Given the description of an element on the screen output the (x, y) to click on. 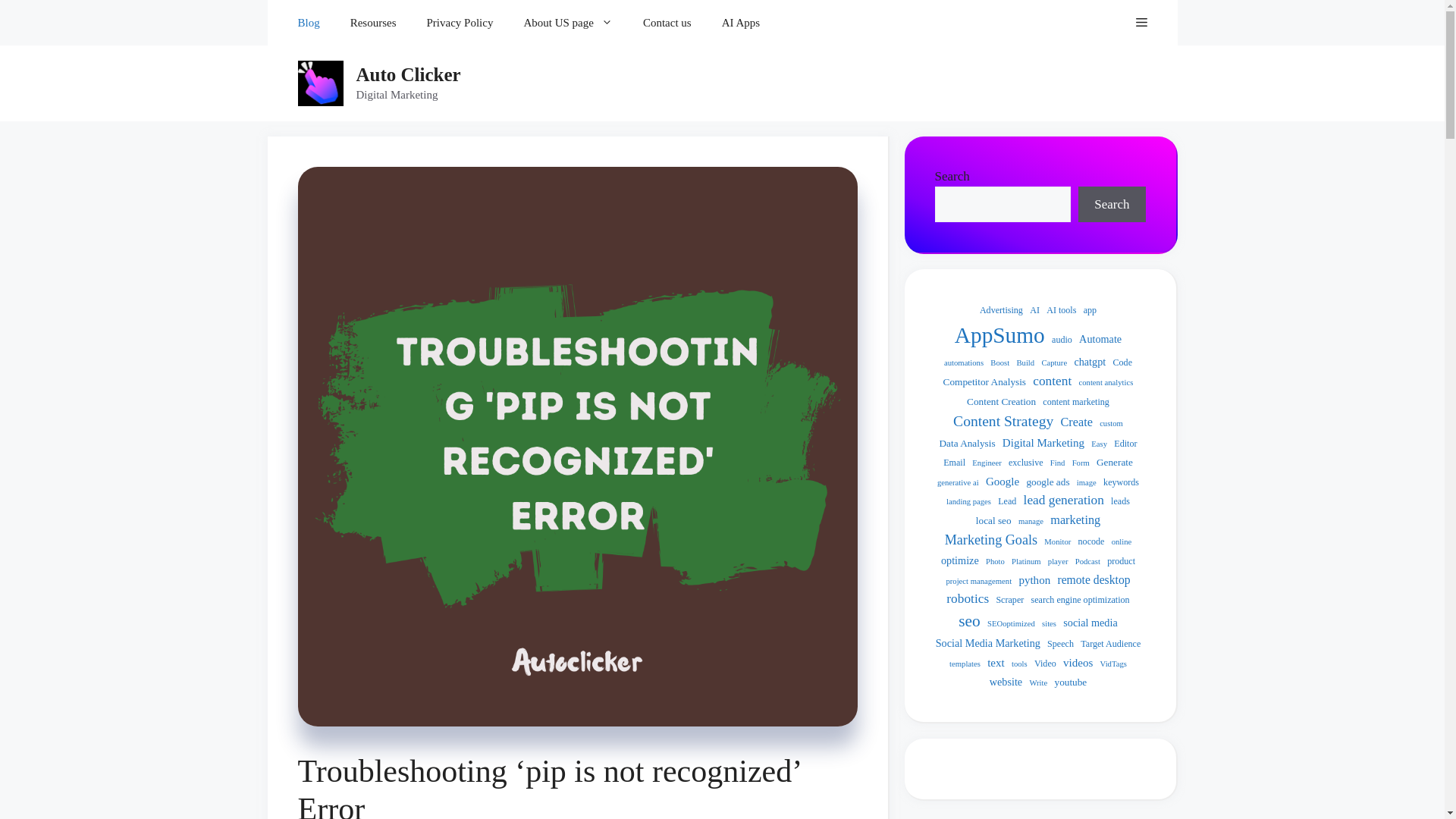
Competitor Analysis (984, 381)
About US page (567, 22)
AppSumo (1000, 335)
Privacy Policy (460, 22)
Blog (308, 22)
Auto Clicker (408, 74)
Capture (1054, 363)
audio (1061, 338)
app (1089, 309)
Automate (1099, 338)
AI tools (1060, 309)
Advertising (1001, 309)
automations (963, 363)
Boost (999, 363)
